Given the description of an element on the screen output the (x, y) to click on. 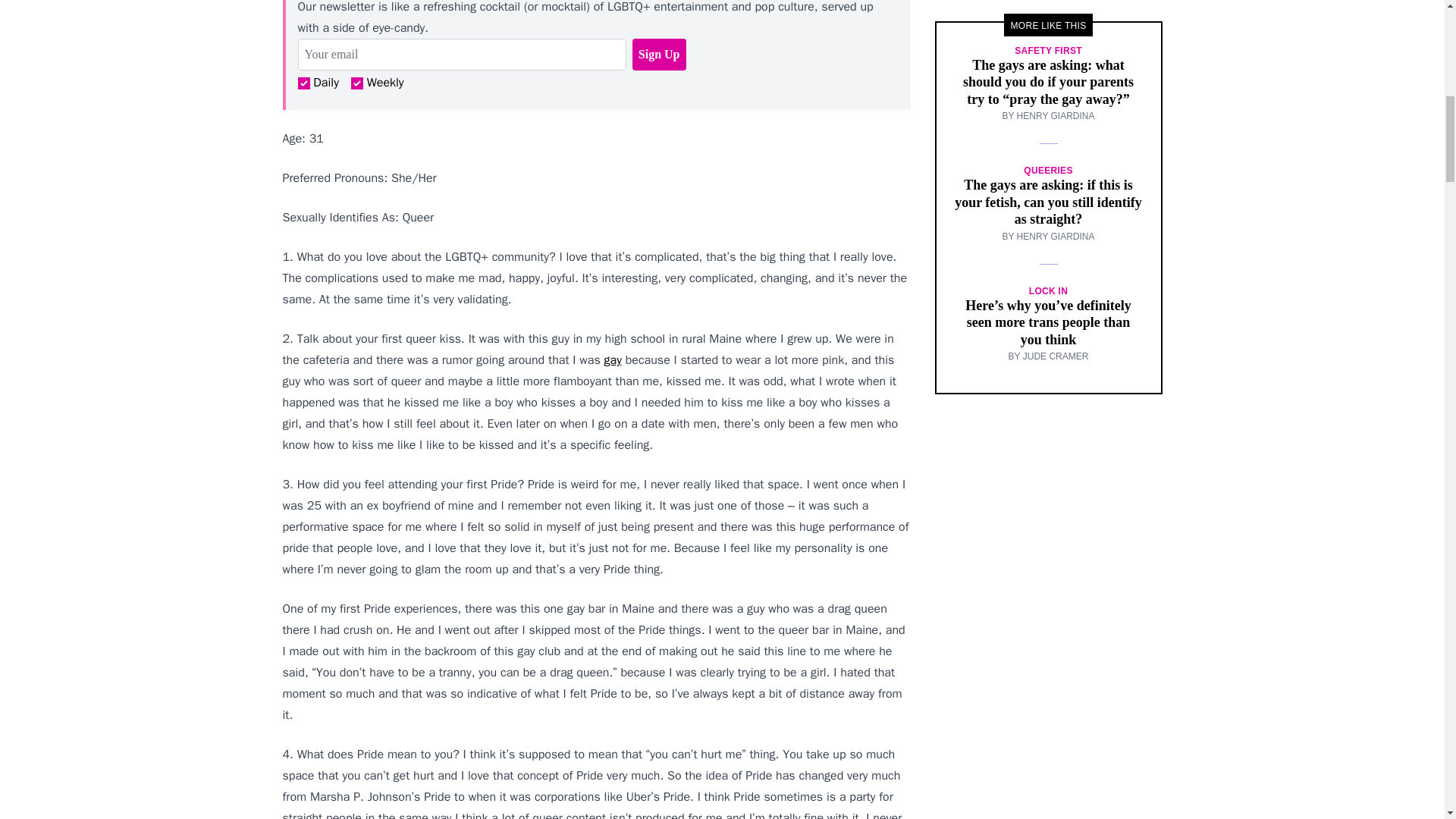
Sign Up (658, 54)
1924751 (302, 82)
gay (612, 359)
Sign Up (658, 54)
1977099 (356, 82)
